Given the description of an element on the screen output the (x, y) to click on. 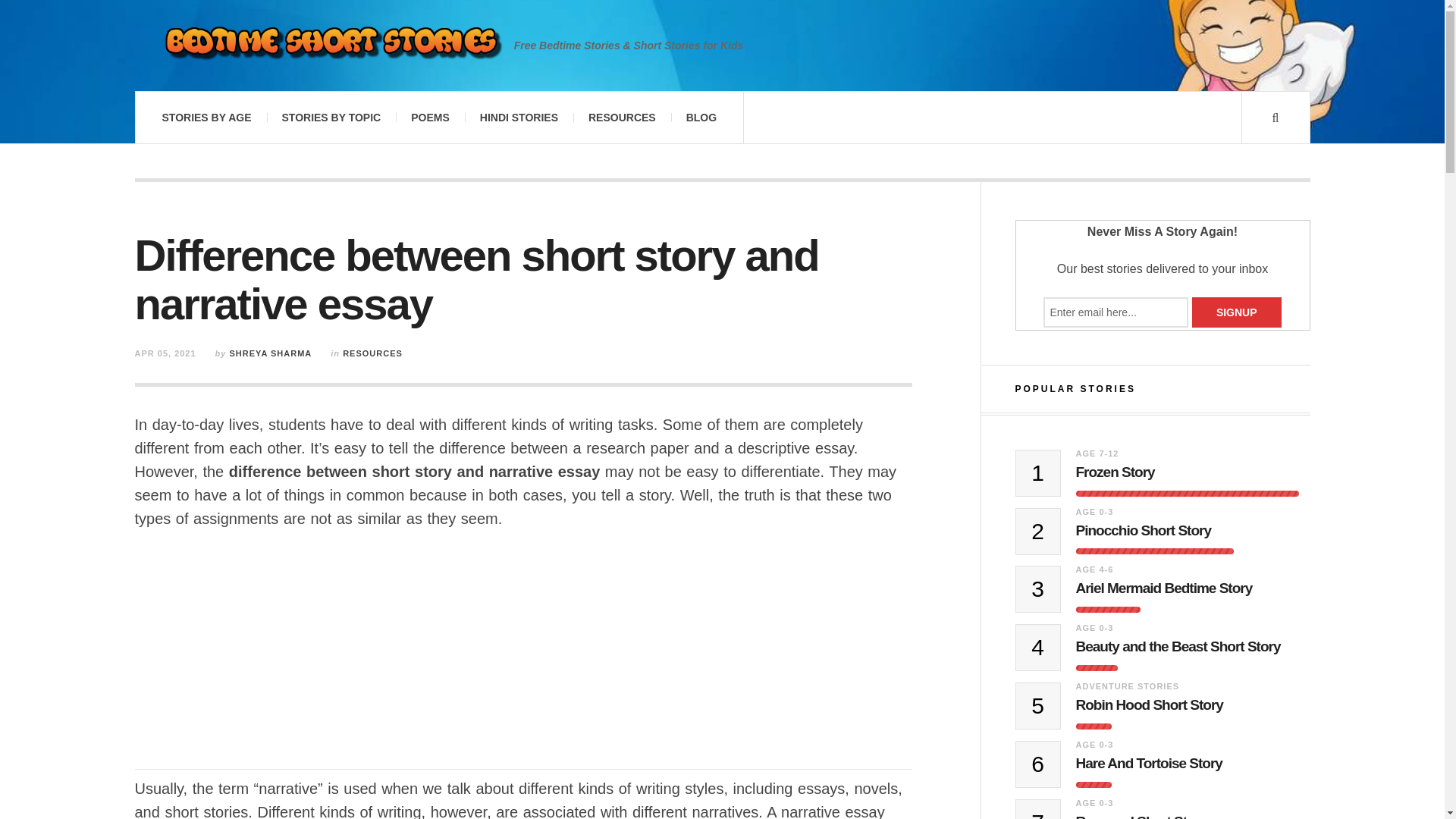
Bedtimeshortstories (331, 44)
HINDI STORIES (518, 117)
View all posts in Age 0-3 (1094, 627)
View all posts in Age 7-12 (1096, 452)
View all posts in Age 0-3 (1094, 511)
POEMS (430, 117)
Signup (1236, 312)
STORIES BY AGE (206, 117)
STORIES BY TOPIC (331, 117)
